Given the description of an element on the screen output the (x, y) to click on. 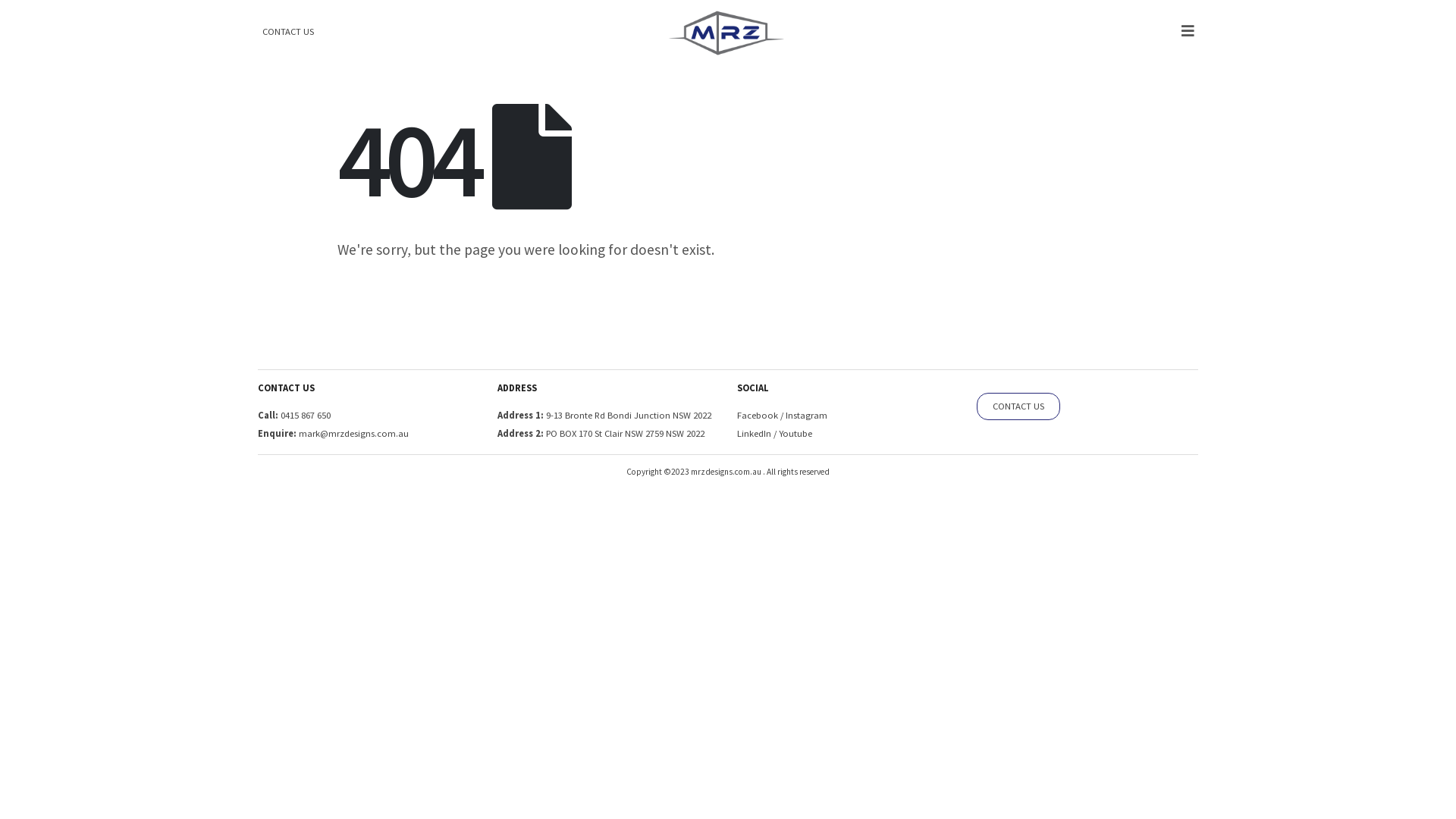
0415 867 650 Element type: text (304, 414)
Mrzdesigns - Residential Designer and Custom Home Builders Element type: hover (724, 32)
Facebook Element type: text (757, 414)
mark@mrzdesigns.com.au Element type: text (352, 433)
CONTACT US Element type: text (1018, 406)
Youtube Element type: text (795, 433)
LinkedIn Element type: text (754, 433)
CONTACT US Element type: text (287, 31)
CONTACT US Element type: text (1018, 405)
Instagram Element type: text (806, 414)
